Given the description of an element on the screen output the (x, y) to click on. 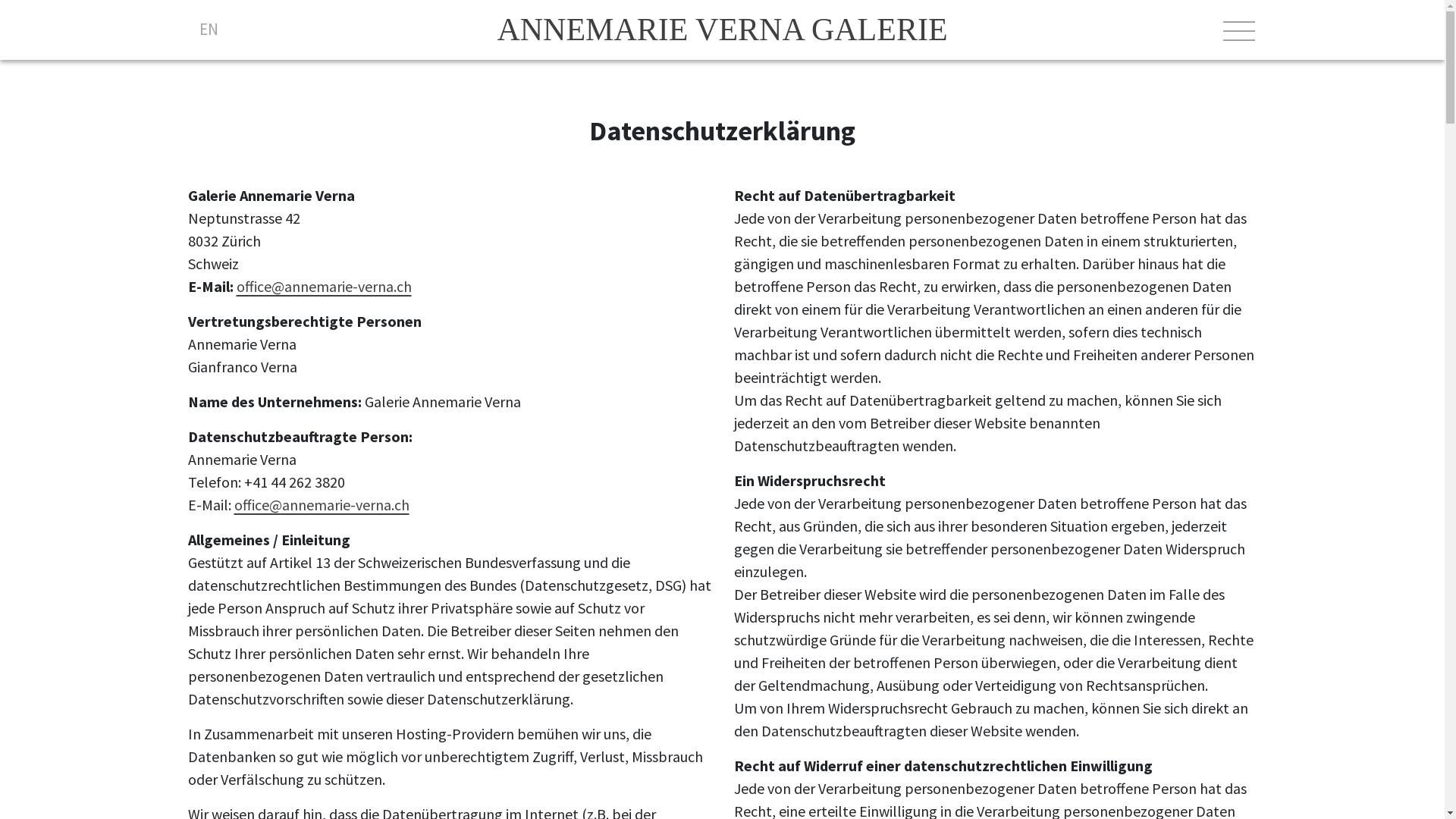
office@annemarie-verna.ch Element type: text (323, 285)
ANNEMARIE VERNA GALERIE Element type: text (721, 29)
EN Element type: text (208, 29)
office@annemarie-verna.ch Element type: text (320, 504)
